Given the description of an element on the screen output the (x, y) to click on. 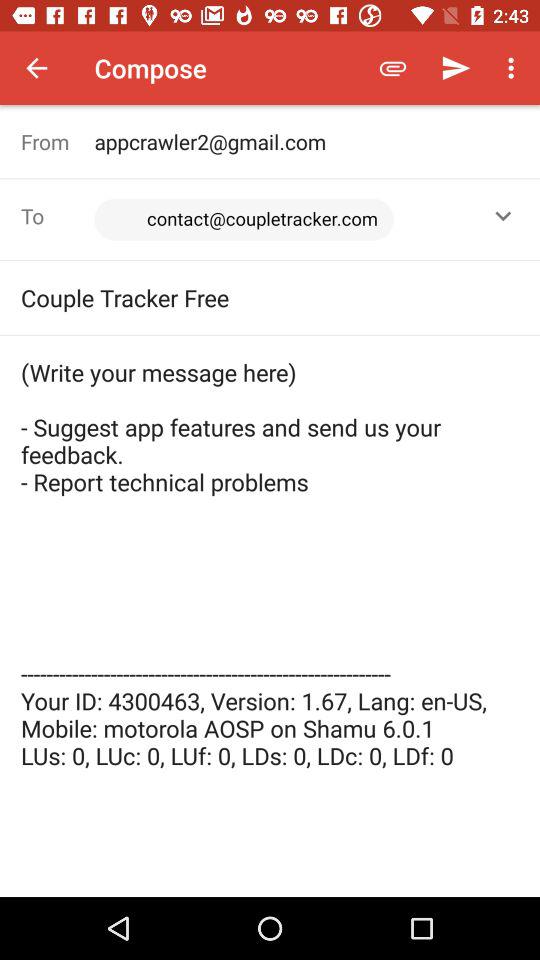
choose item below the write your message icon (270, 844)
